Given the description of an element on the screen output the (x, y) to click on. 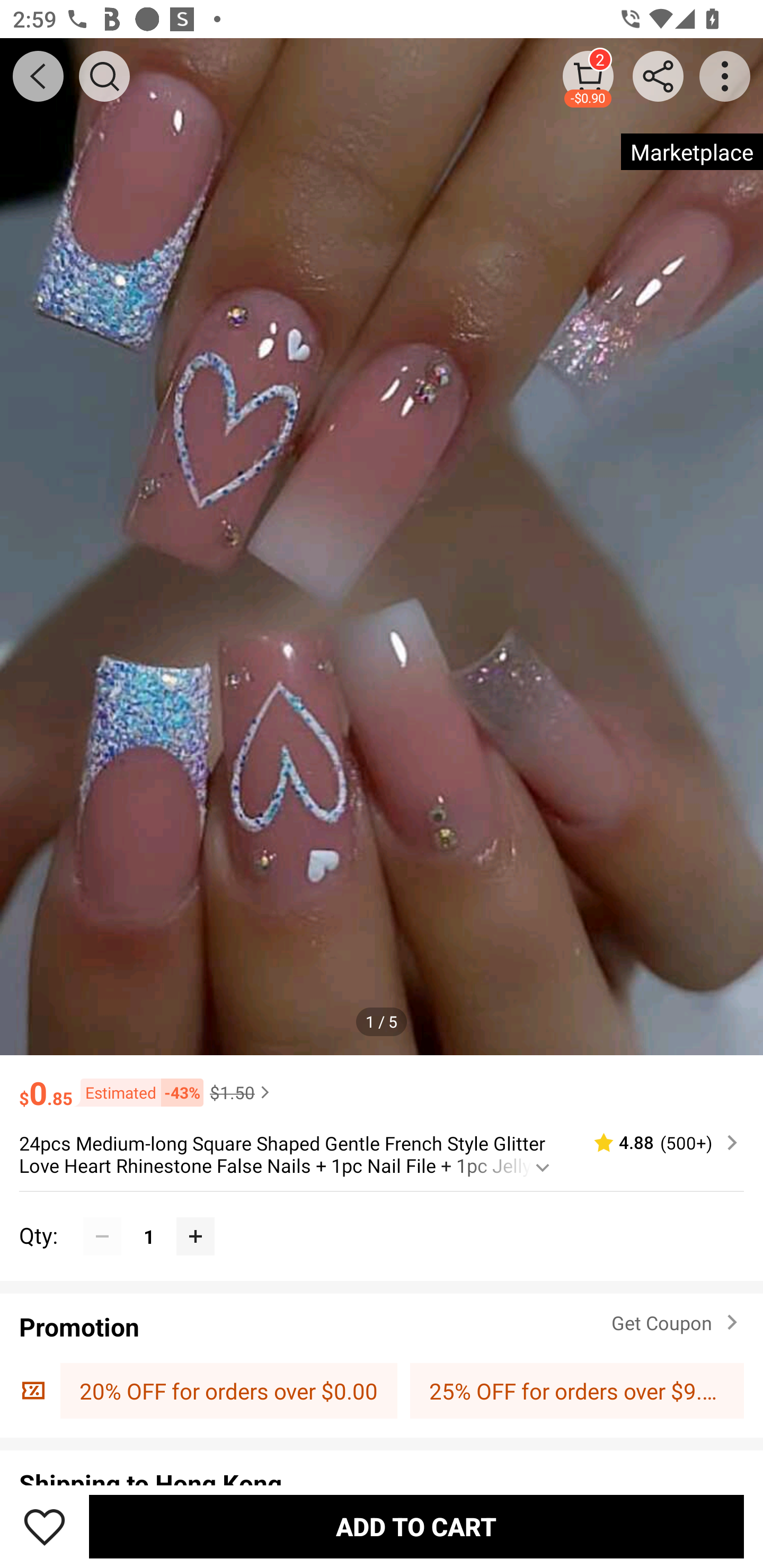
BACK (38, 75)
2 -$0.90 (588, 75)
1 / 5 (381, 1021)
$0.85 Estimated -43% $1.50 (381, 1084)
Estimated -43% (137, 1092)
$1.50 (241, 1091)
4.88 (500‎+) (658, 1142)
Qty: 1 (381, 1216)
ADD TO CART (416, 1526)
Save (44, 1526)
